Given the description of an element on the screen output the (x, y) to click on. 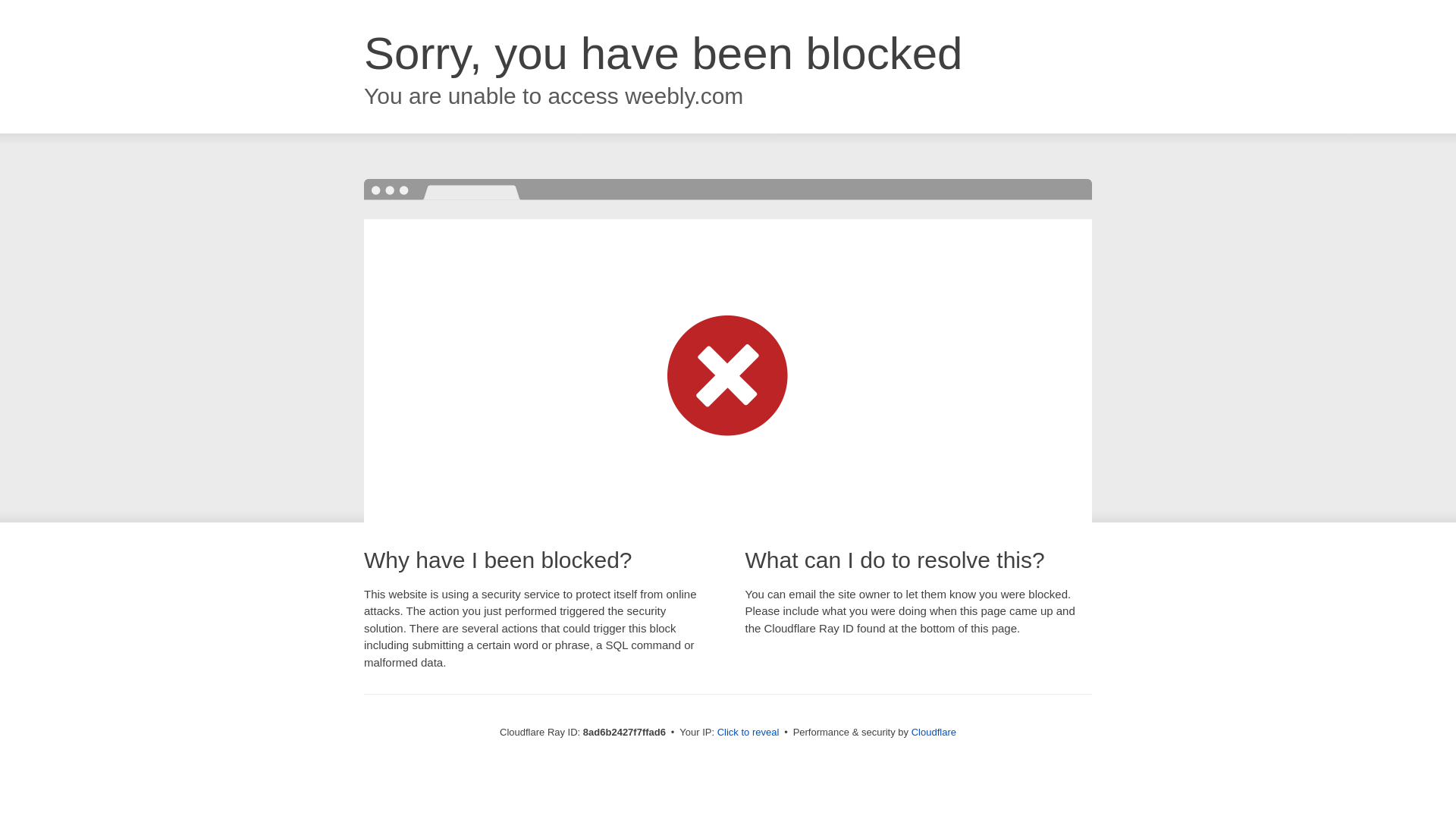
Cloudflare (933, 731)
Click to reveal (747, 732)
